Given the description of an element on the screen output the (x, y) to click on. 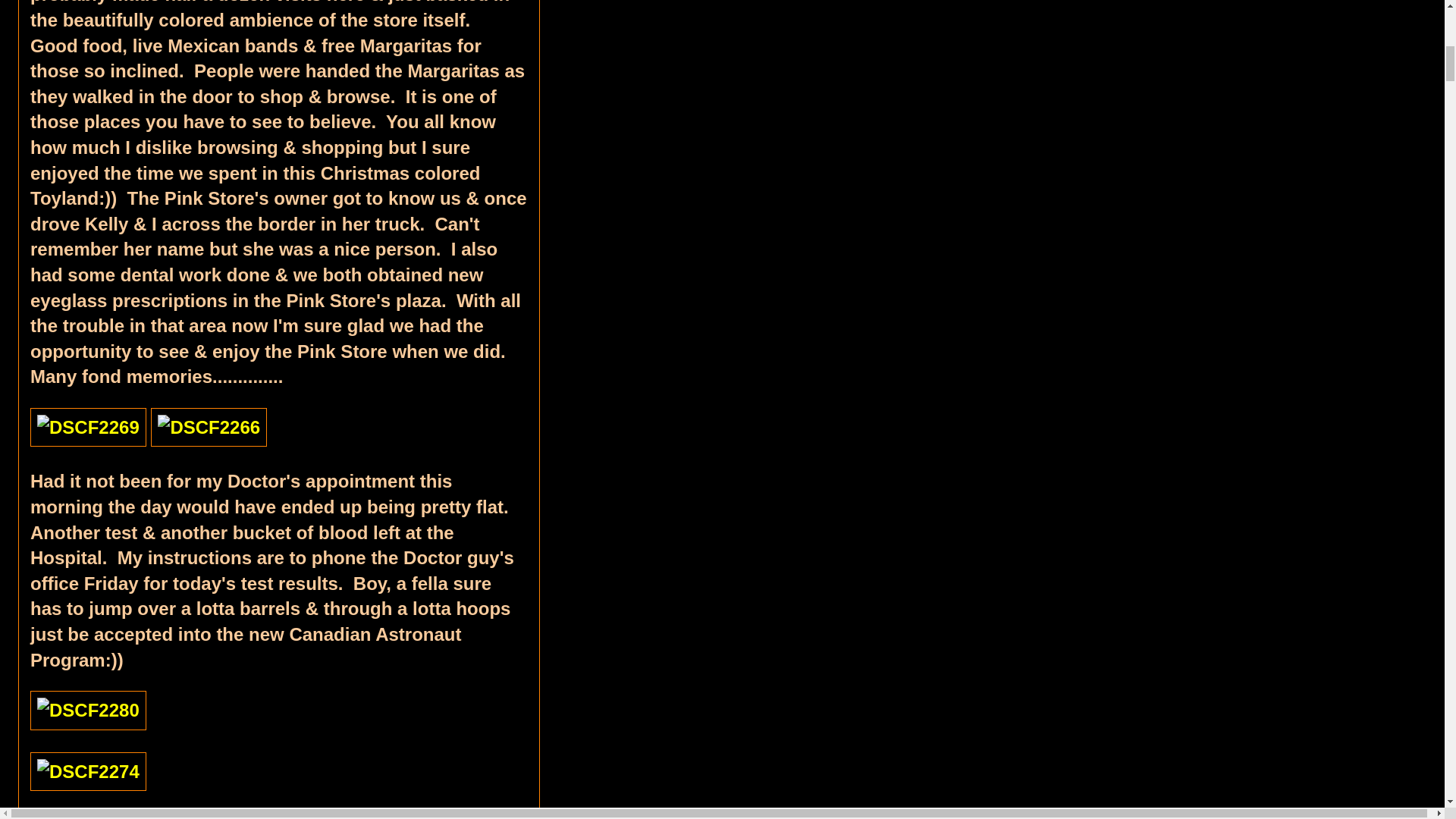
DSCF2266 (208, 427)
DSCF2274 (88, 771)
DSCF2280 (88, 710)
DSCF2269 (88, 427)
